Given the description of an element on the screen output the (x, y) to click on. 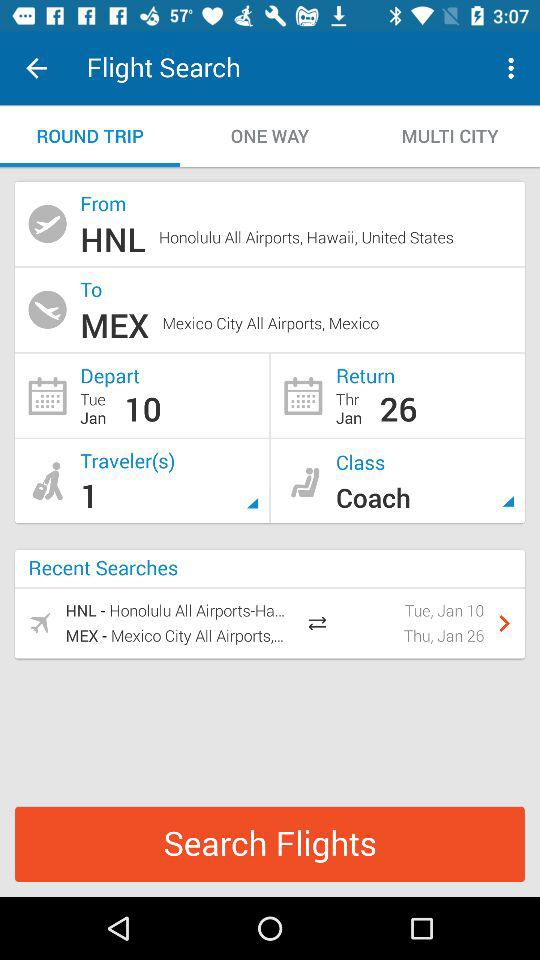
select multi city icon (450, 136)
